Given the description of an element on the screen output the (x, y) to click on. 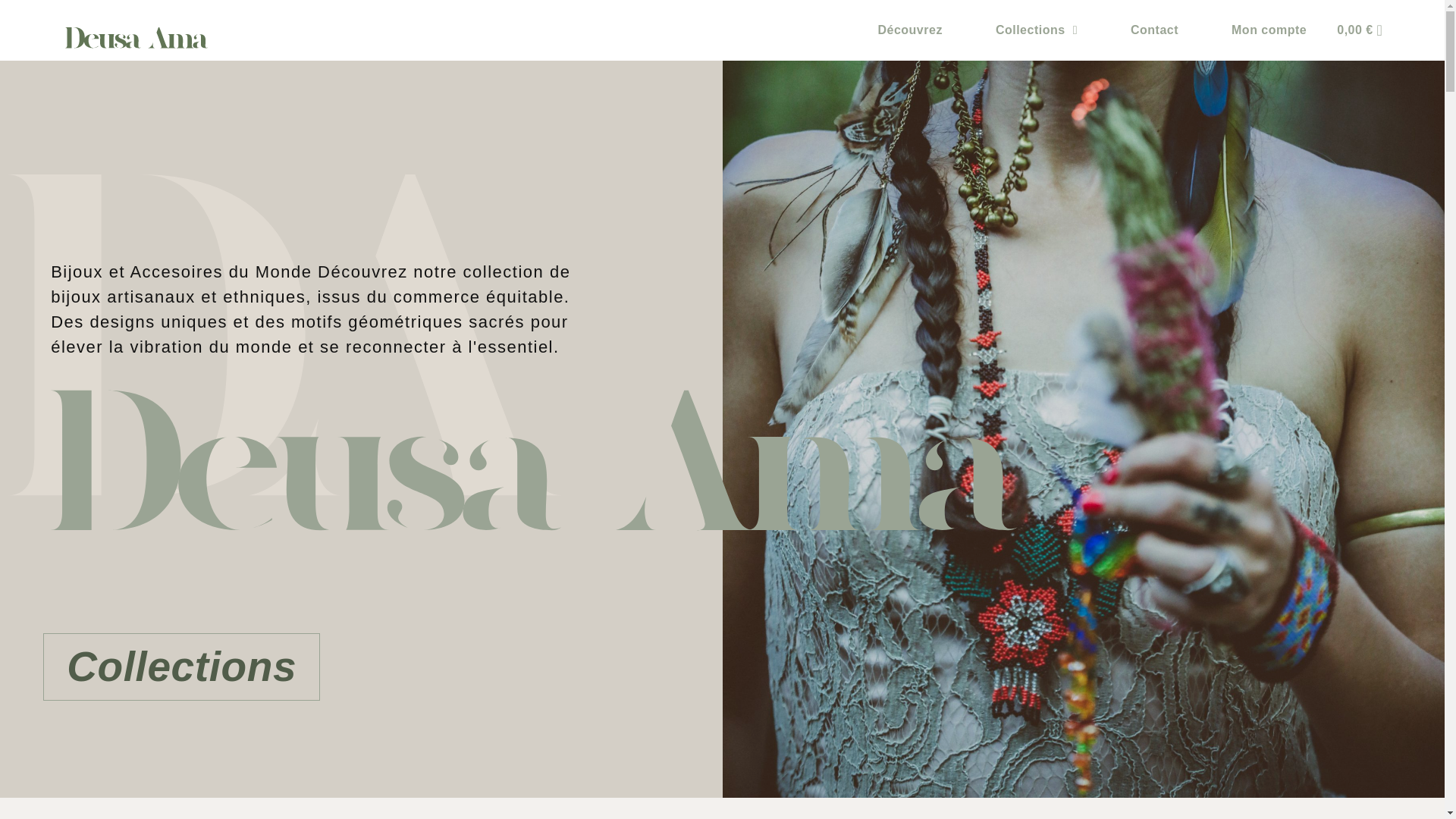
Collections (1036, 22)
Mon compte (1268, 26)
Contact (1154, 25)
